Given the description of an element on the screen output the (x, y) to click on. 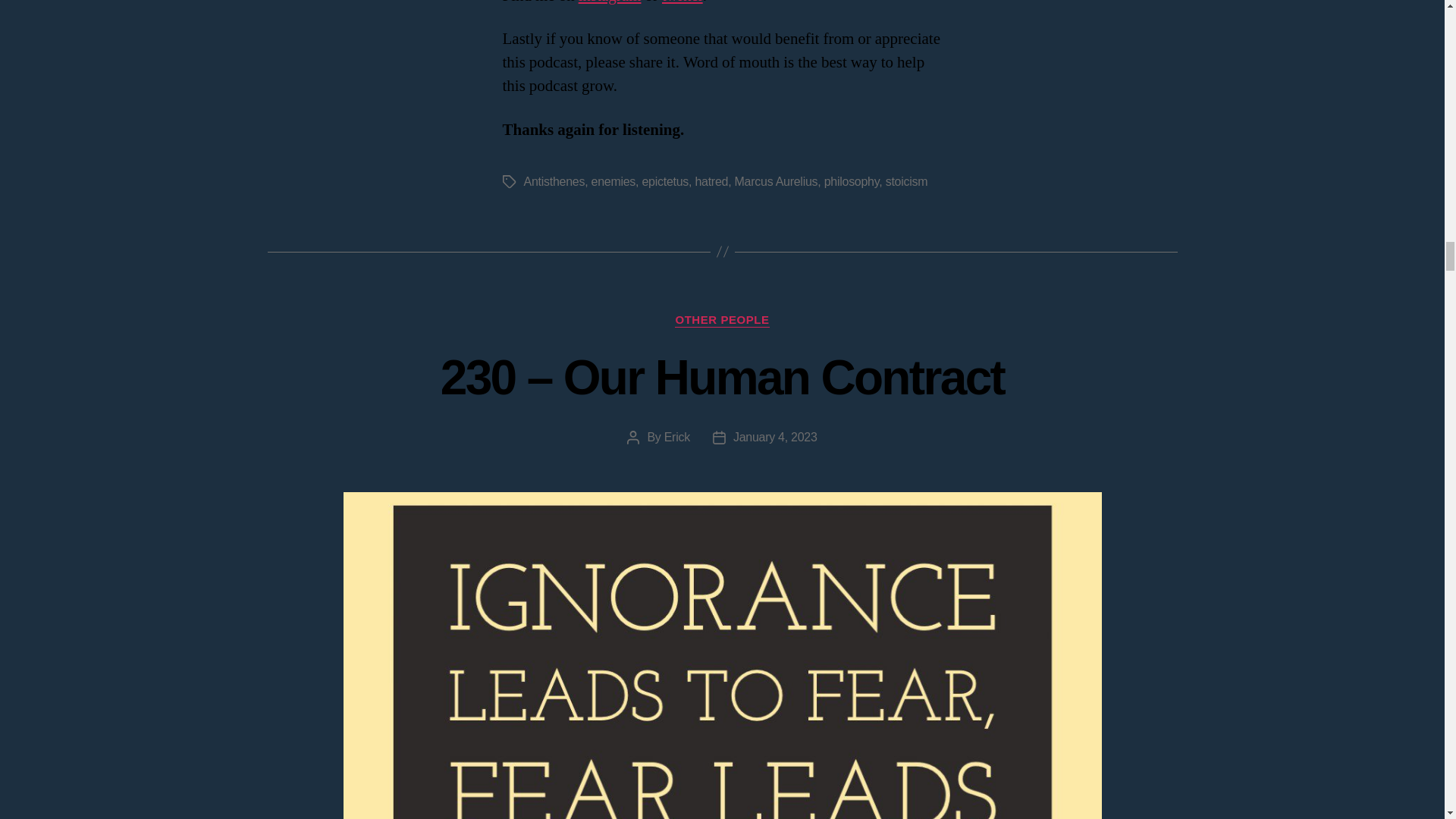
epictetus (665, 181)
Erick (676, 436)
twitter (682, 2)
OTHER PEOPLE (721, 320)
enemies (613, 181)
stoicism (906, 181)
Antisthenes (553, 181)
instagram (610, 2)
Marcus Aurelius (776, 181)
hatred (711, 181)
